Given the description of an element on the screen output the (x, y) to click on. 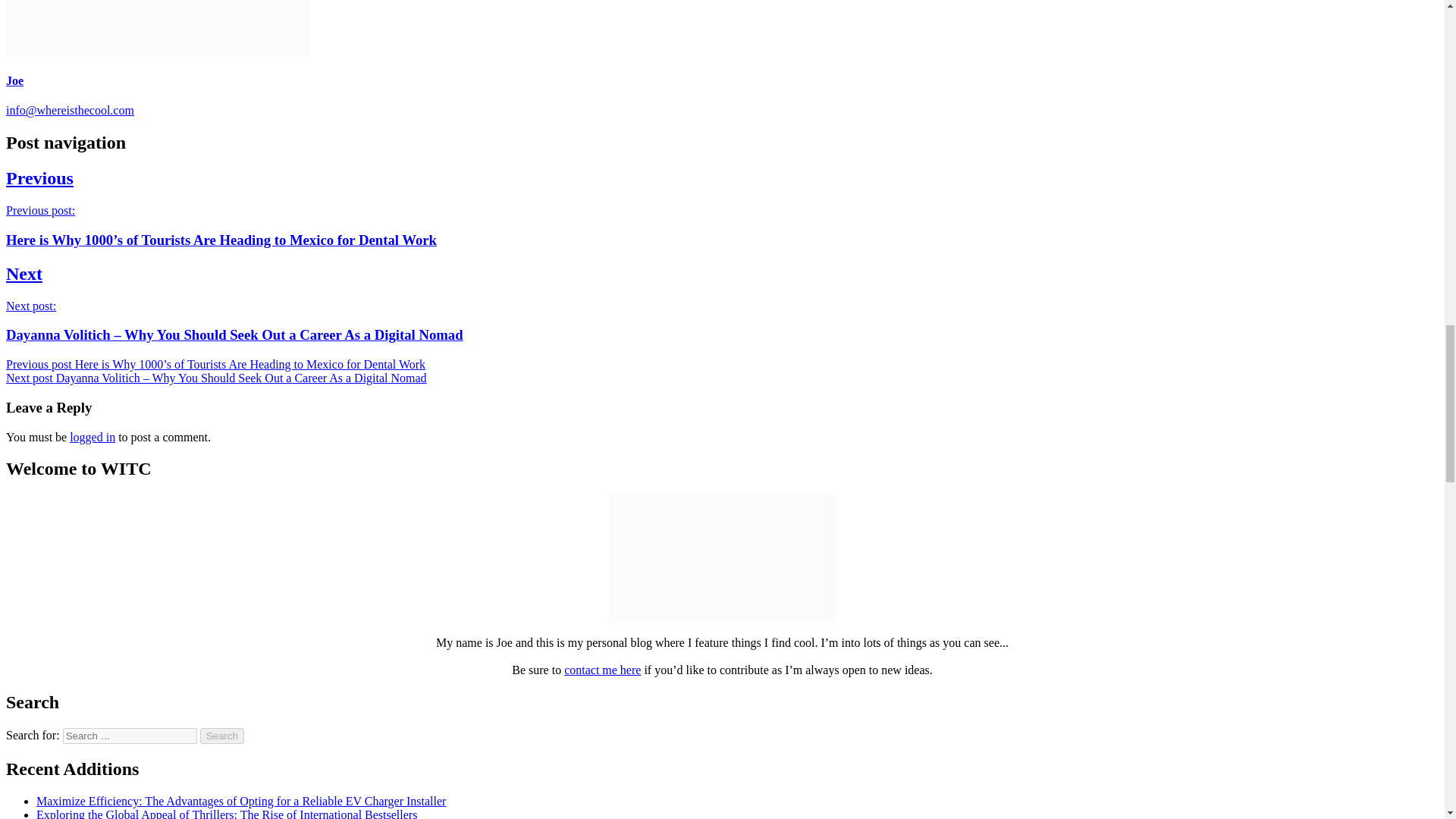
Search (222, 735)
logged in (92, 436)
Joe (14, 80)
Search (222, 735)
Search (222, 735)
contact me here (602, 669)
